Given the description of an element on the screen output the (x, y) to click on. 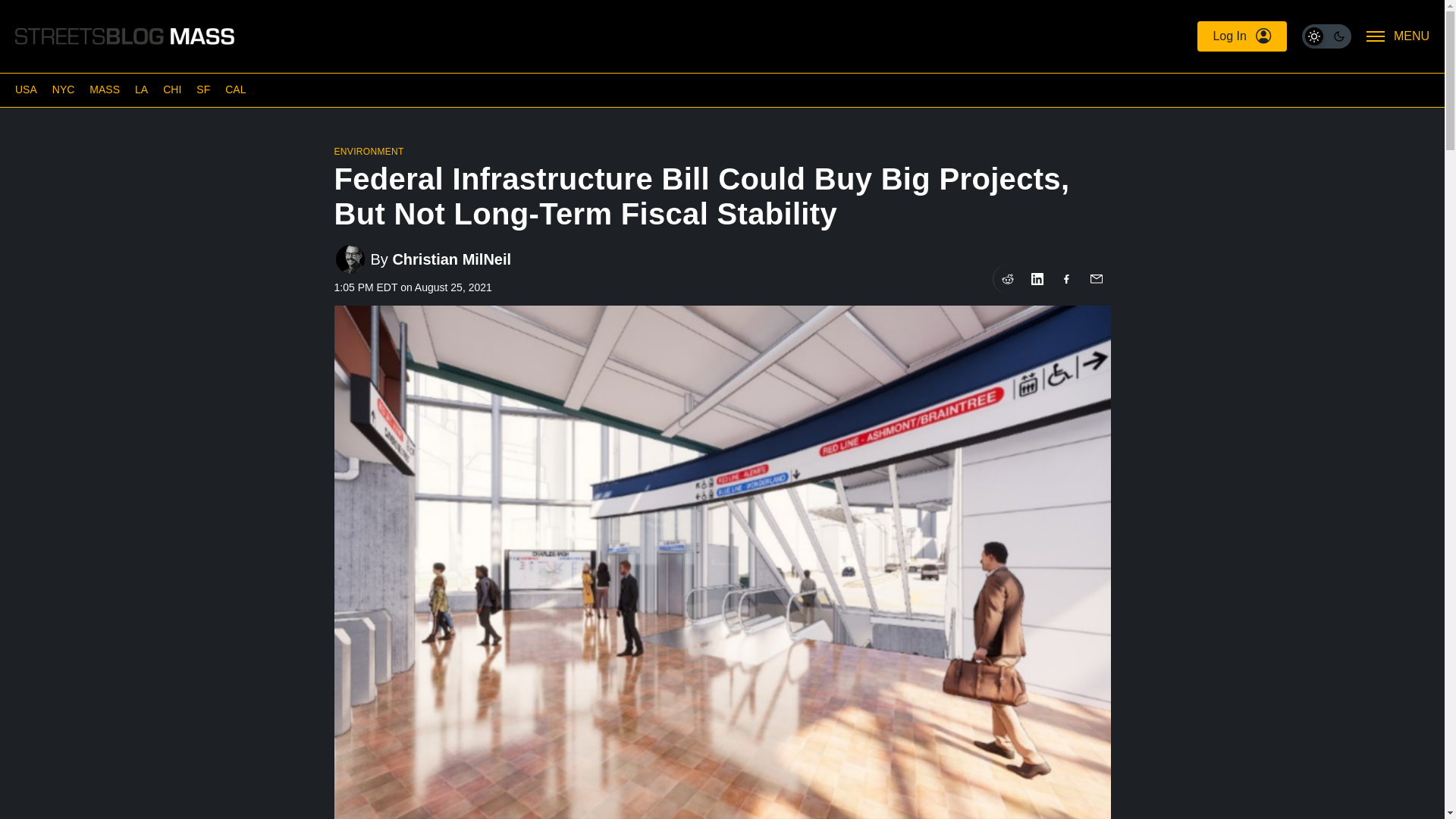
CAL (235, 89)
Log In (1240, 36)
USA (25, 89)
MASS (103, 89)
CHI (171, 89)
Share on LinkedIn (1036, 278)
ENVIRONMENT (368, 151)
Share on Facebook (1066, 278)
Share on Email (1095, 278)
Christian MilNeil (451, 259)
